Given the description of an element on the screen output the (x, y) to click on. 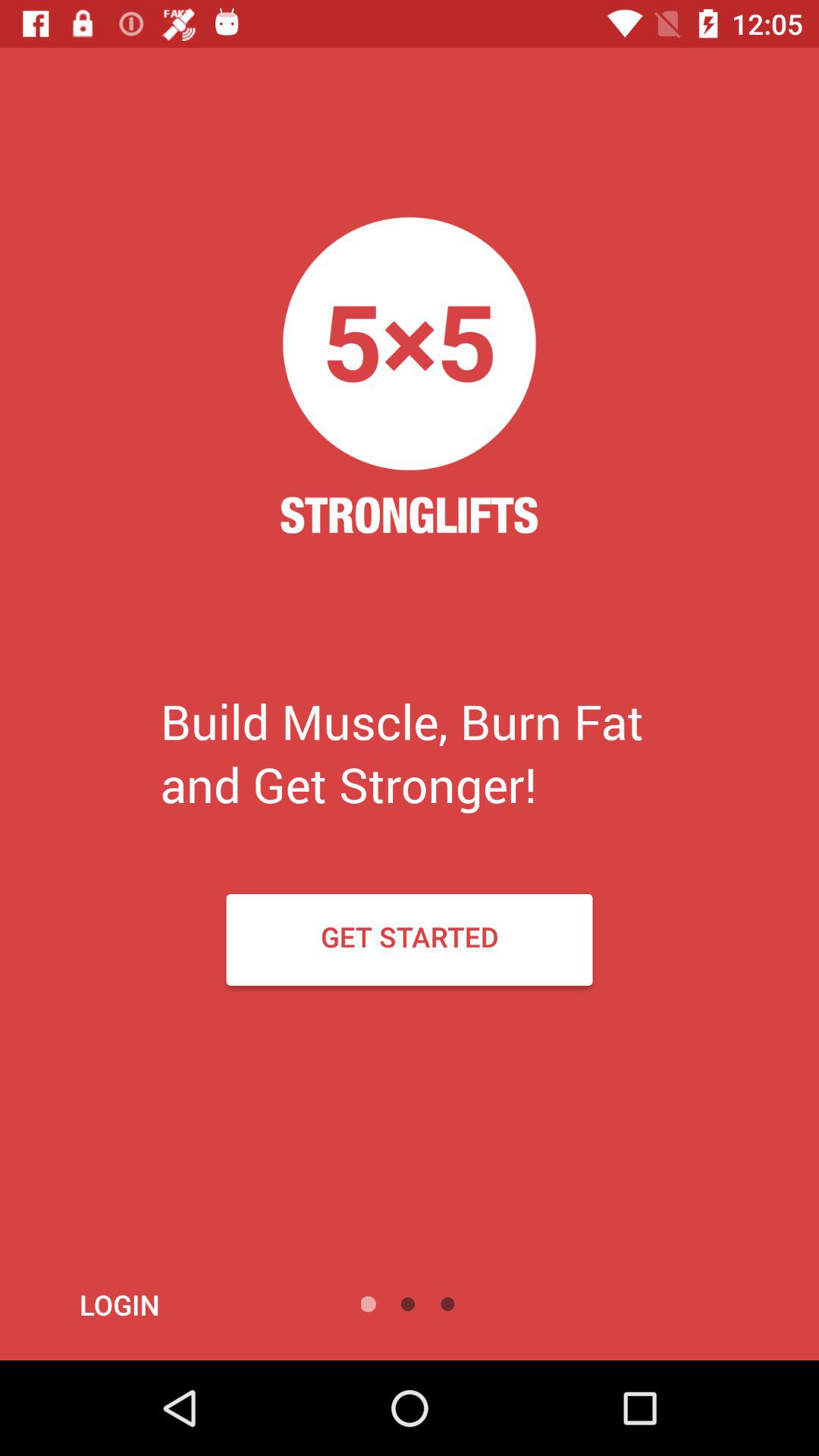
swipe to the get started icon (409, 939)
